Given the description of an element on the screen output the (x, y) to click on. 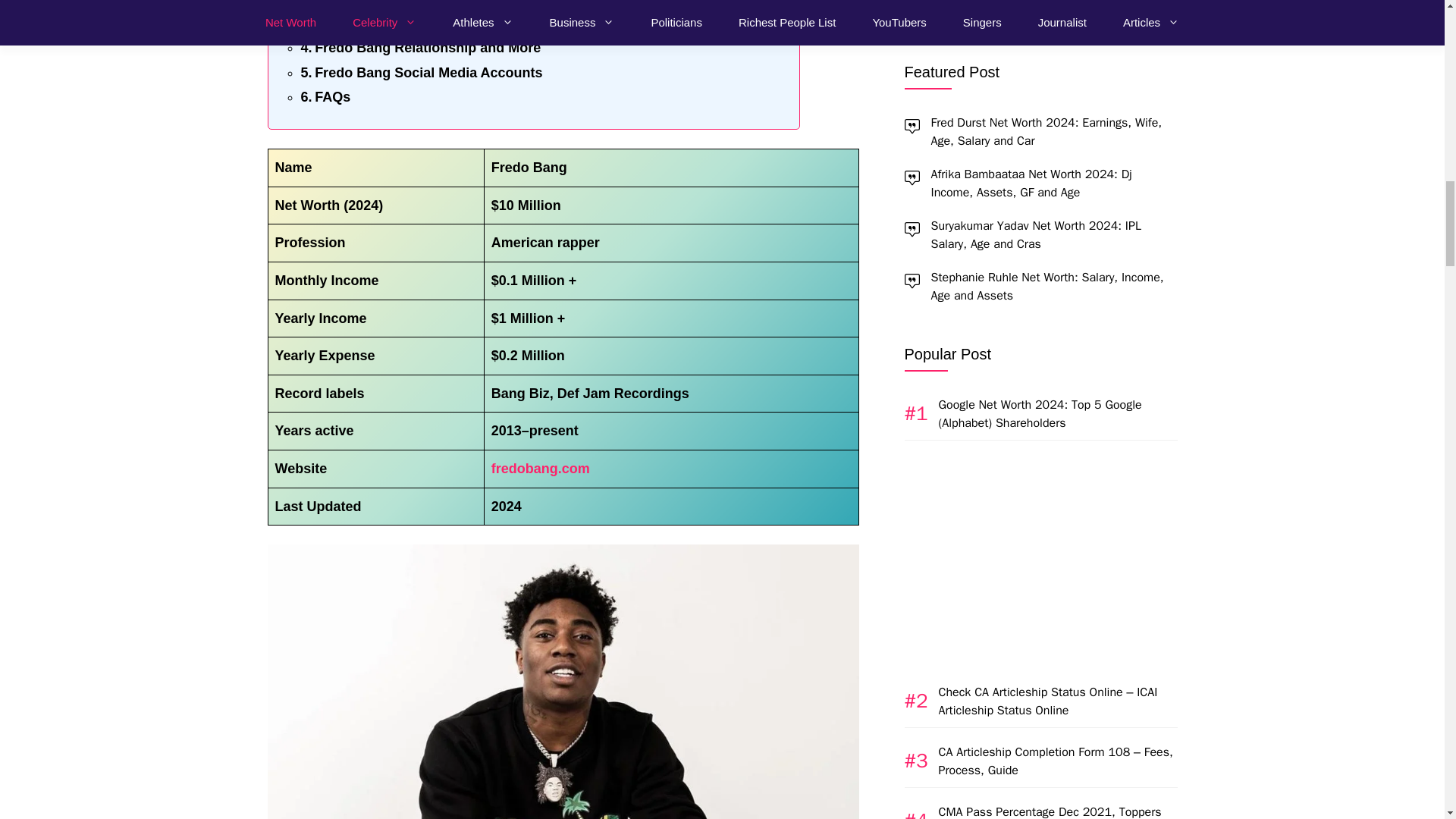
FAQs (324, 97)
Fredo Bang Net Worth Growth (405, 4)
Fredo Bang Relationship and More (419, 47)
Fredo Bang Biography (380, 23)
Fredo Bang Social Media Accounts (420, 73)
